Given the description of an element on the screen output the (x, y) to click on. 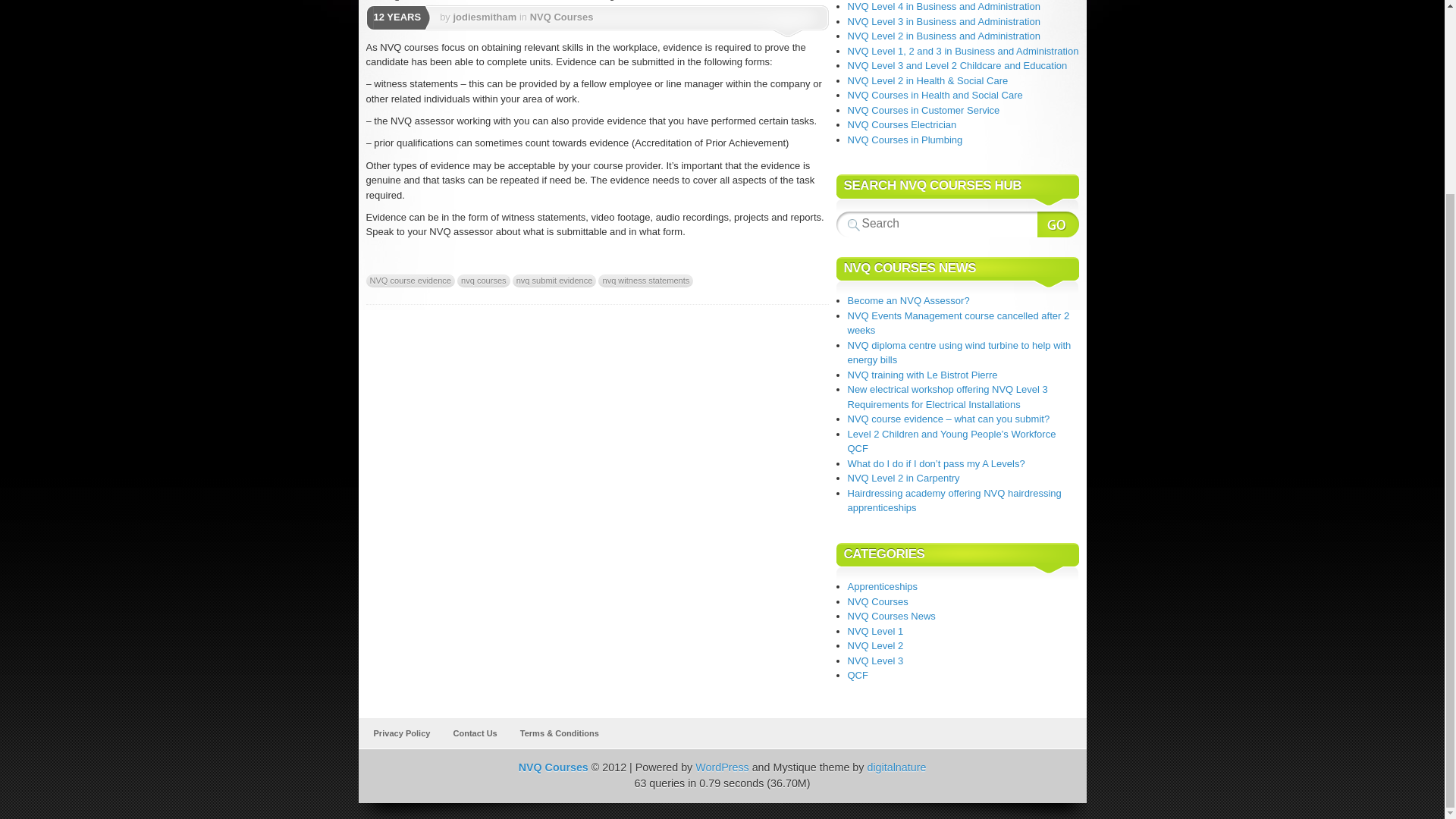
NVQ course evidence (409, 280)
NVQ Courses Electrician (901, 124)
nvq submit evidence (554, 280)
jodiesmitham (484, 16)
Become an NVQ Assessor? (908, 300)
NVQ Level 3 in Business and Administration (944, 20)
NVQ Courses (553, 767)
NVQ Level 4 in Business and Administration (944, 6)
nvq witness statements (645, 280)
nvq courses (484, 280)
